Given the description of an element on the screen output the (x, y) to click on. 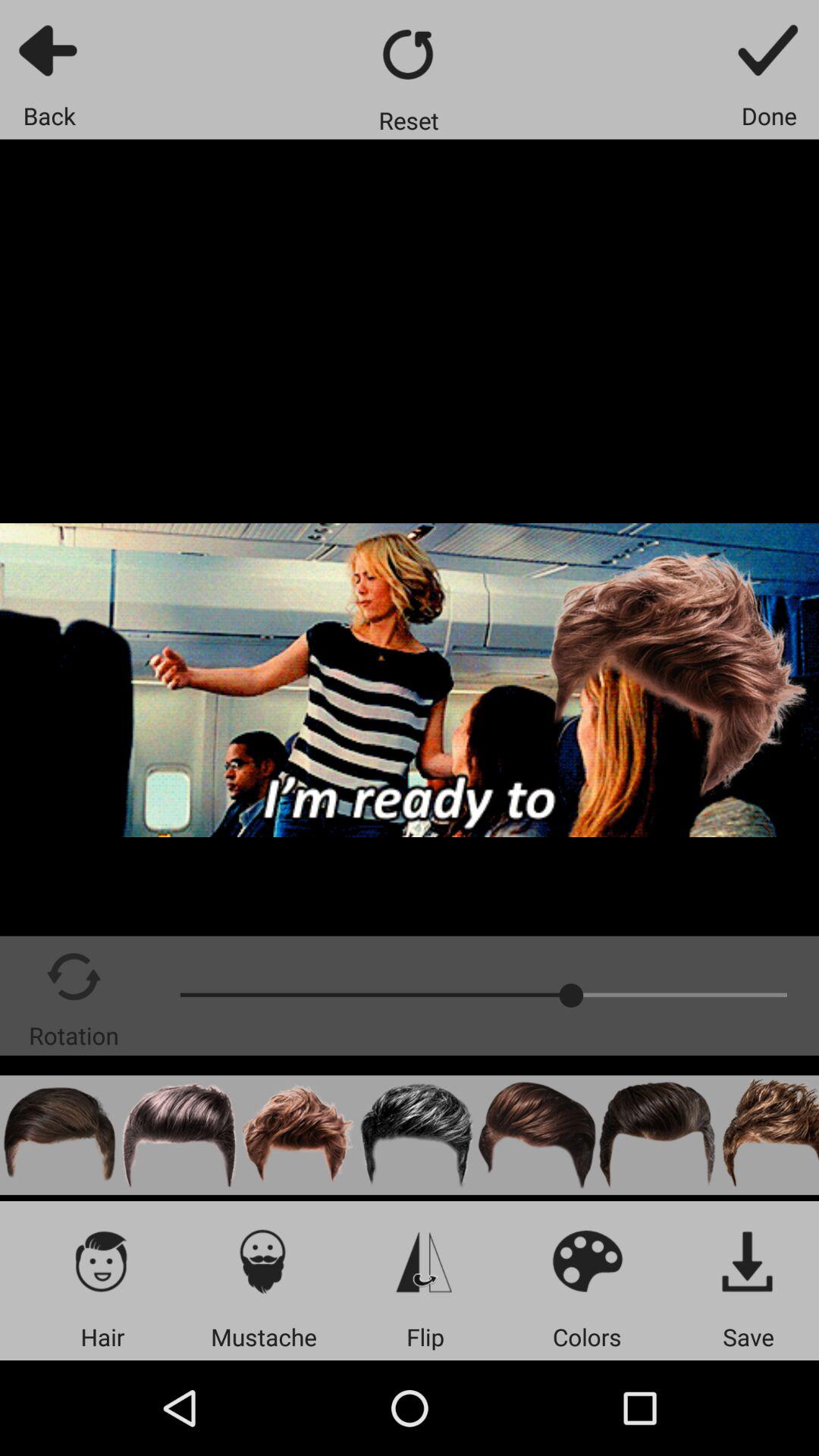
finish (769, 49)
